Given the description of an element on the screen output the (x, y) to click on. 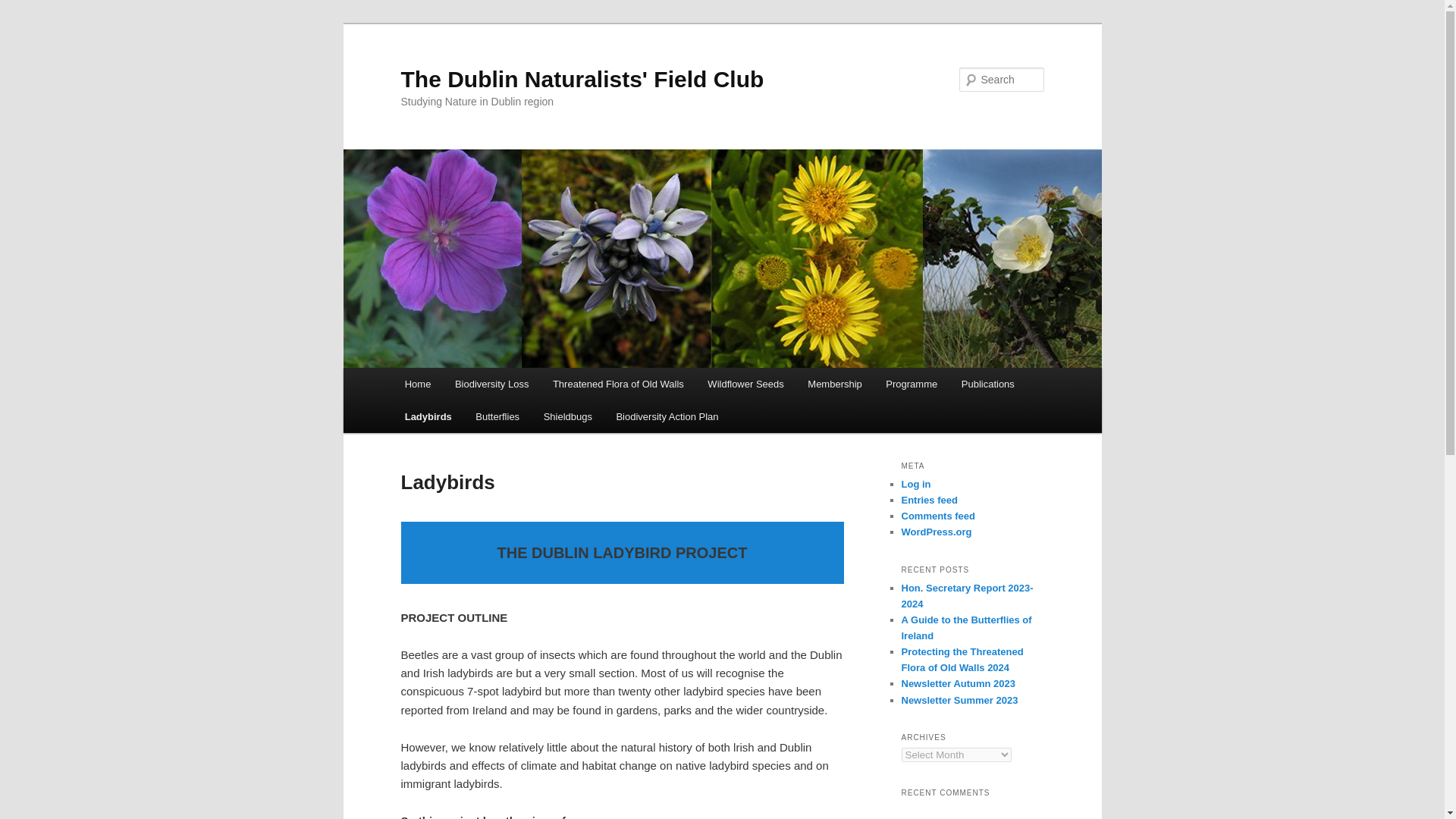
Log in (915, 483)
Ladybirds (428, 416)
Biodiversity Loss (491, 383)
A Guide to the Butterflies of Ireland (965, 627)
Publications (987, 383)
The Dublin Naturalists' Field Club (581, 78)
Newsletter Summer 2023 (959, 699)
WordPress.org (936, 531)
Comments feed (938, 515)
